Given the description of an element on the screen output the (x, y) to click on. 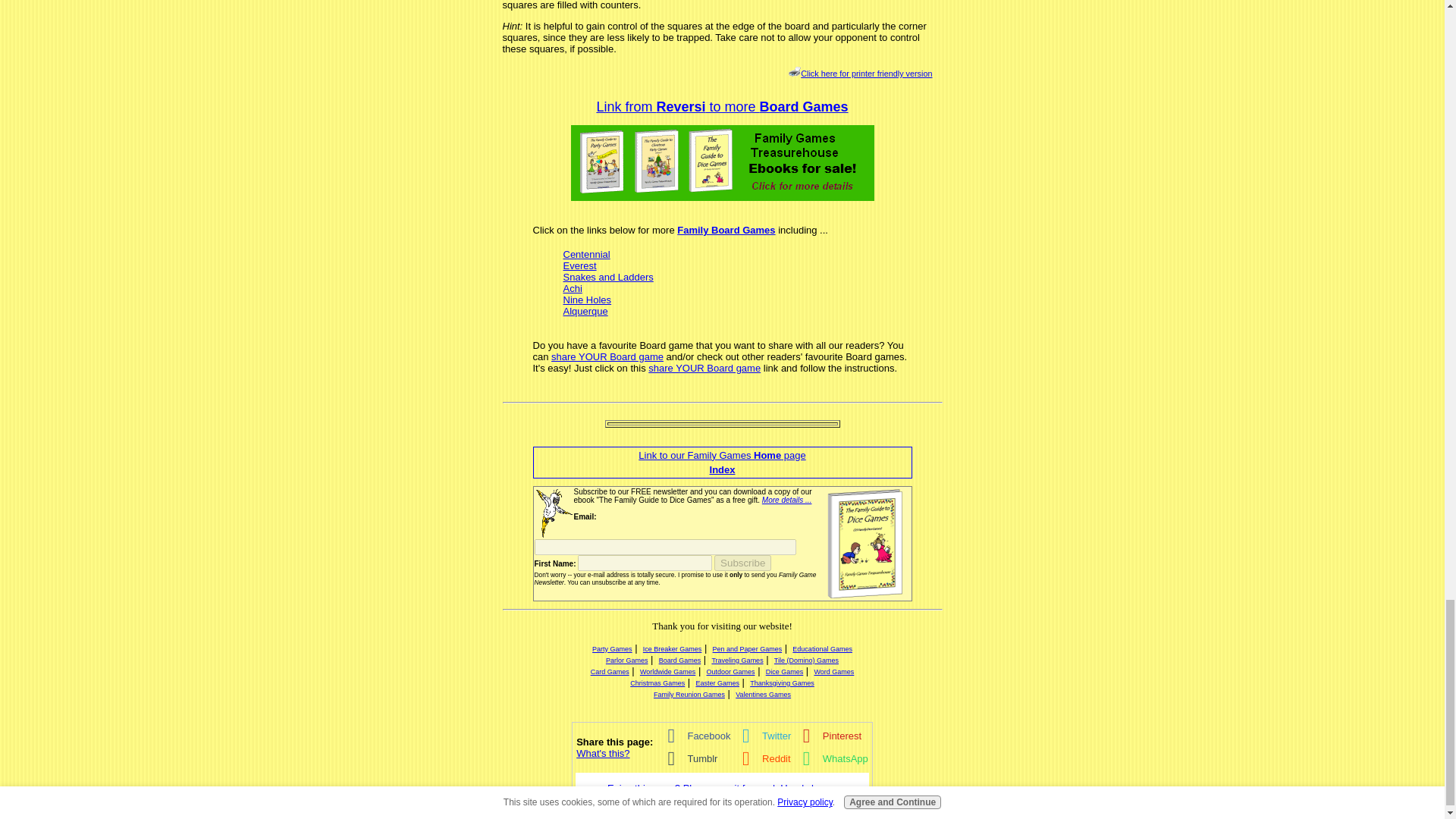
Centennial (586, 254)
Click here for printer friendly version (860, 72)
Subscribe (742, 562)
Achi (571, 288)
Word Games (833, 671)
Christmas Games (657, 683)
Parlor Games (626, 660)
Card Games (609, 671)
Ice Breaker Games (672, 648)
Link from Reversi to more Board Games (721, 106)
